Given the description of an element on the screen output the (x, y) to click on. 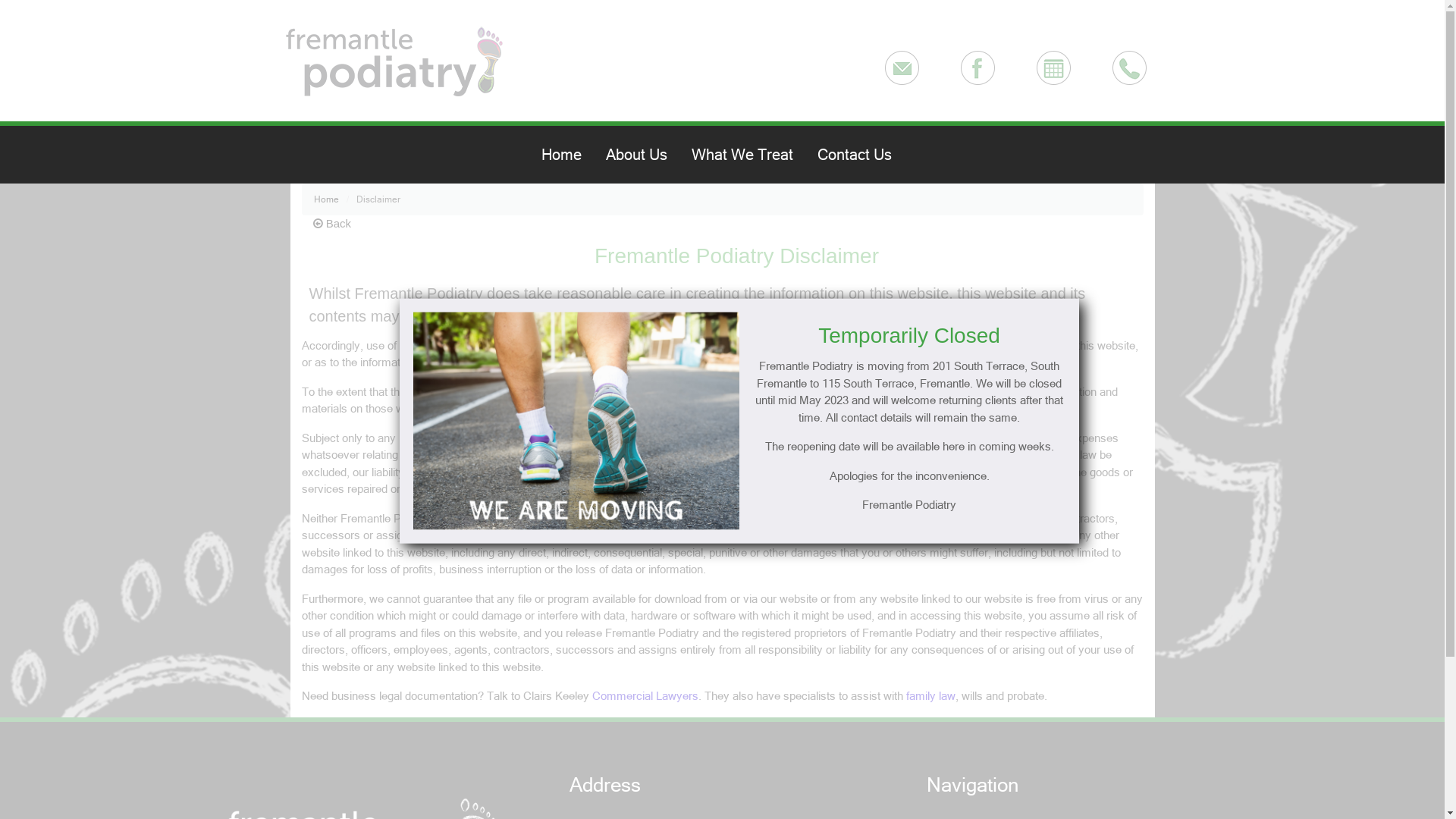
What We Treat Element type: text (748, 154)
Contact Us Element type: text (860, 154)
Fremantle Podiatry Element type: text (909, 505)
Home Element type: text (334, 199)
Home Element type: text (567, 154)
About Us Element type: text (641, 154)
family law Element type: text (929, 695)
 Back Element type: text (331, 223)
Commercial Lawyers Element type: text (644, 695)
Temporarily Closed Element type: text (909, 335)
Apologies for the inconvenience. Element type: text (909, 475)
The reopening date will be available here in coming weeks. Element type: text (909, 446)
